Given the description of an element on the screen output the (x, y) to click on. 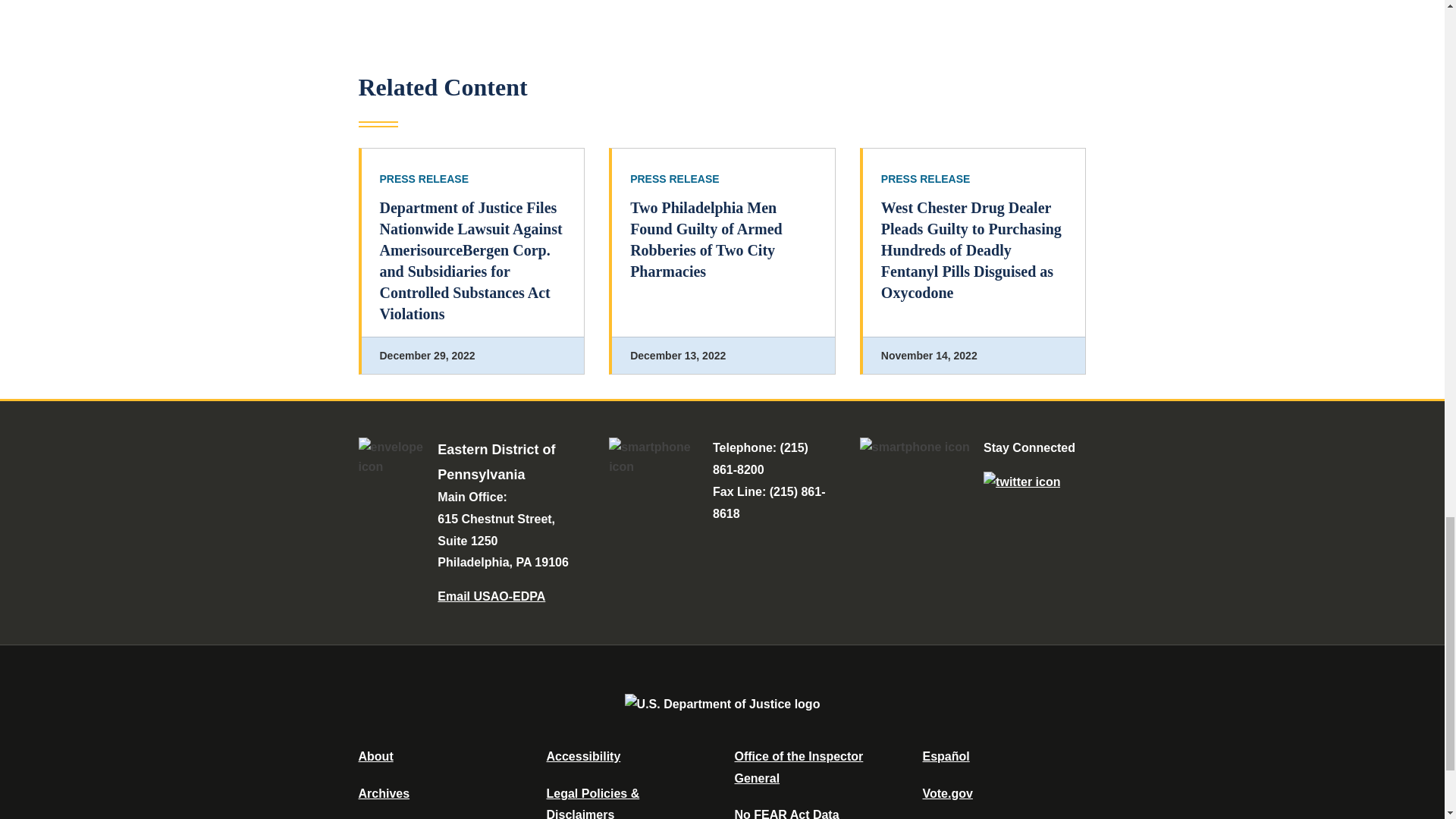
Legal Policies and Disclaimers (592, 803)
Data Posted Pursuant To The No Fear Act (785, 813)
Department of Justice Archive (383, 793)
Accessibility Statement (583, 756)
About DOJ (375, 756)
